Given the description of an element on the screen output the (x, y) to click on. 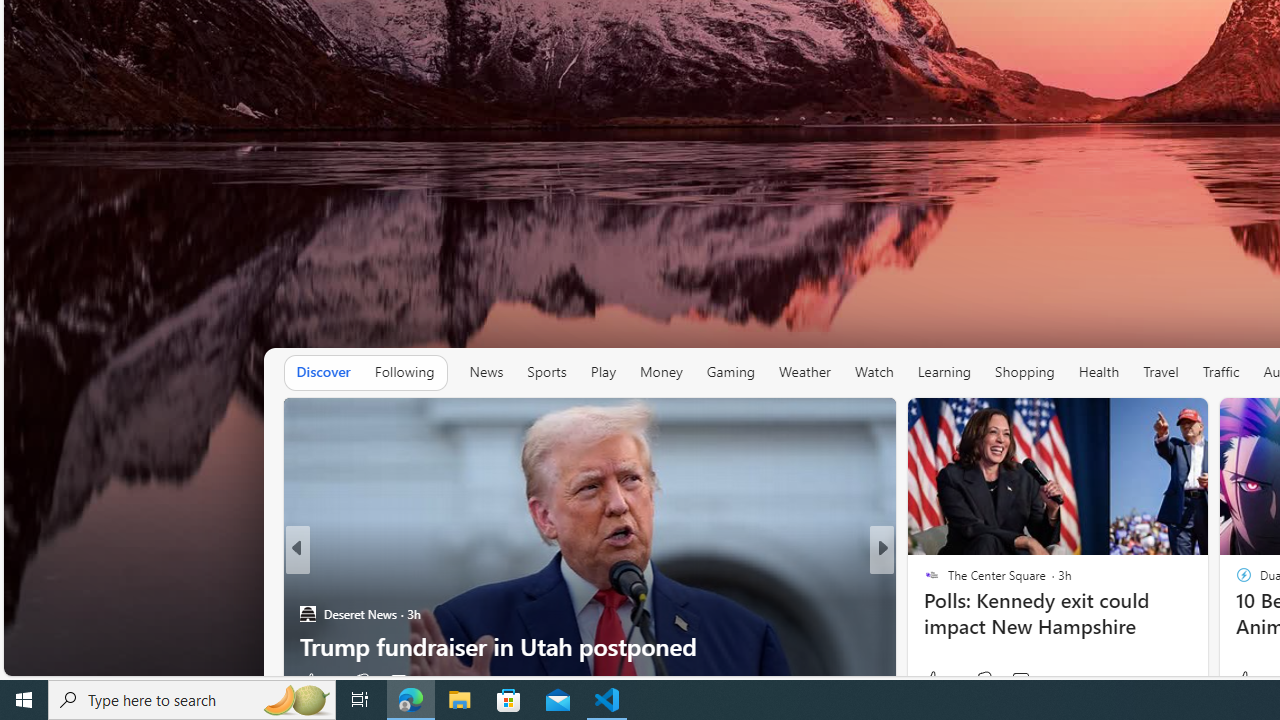
308 Like (320, 681)
261 Like (936, 681)
12 Like (939, 680)
View comments 226 Comment (1013, 681)
